Given the description of an element on the screen output the (x, y) to click on. 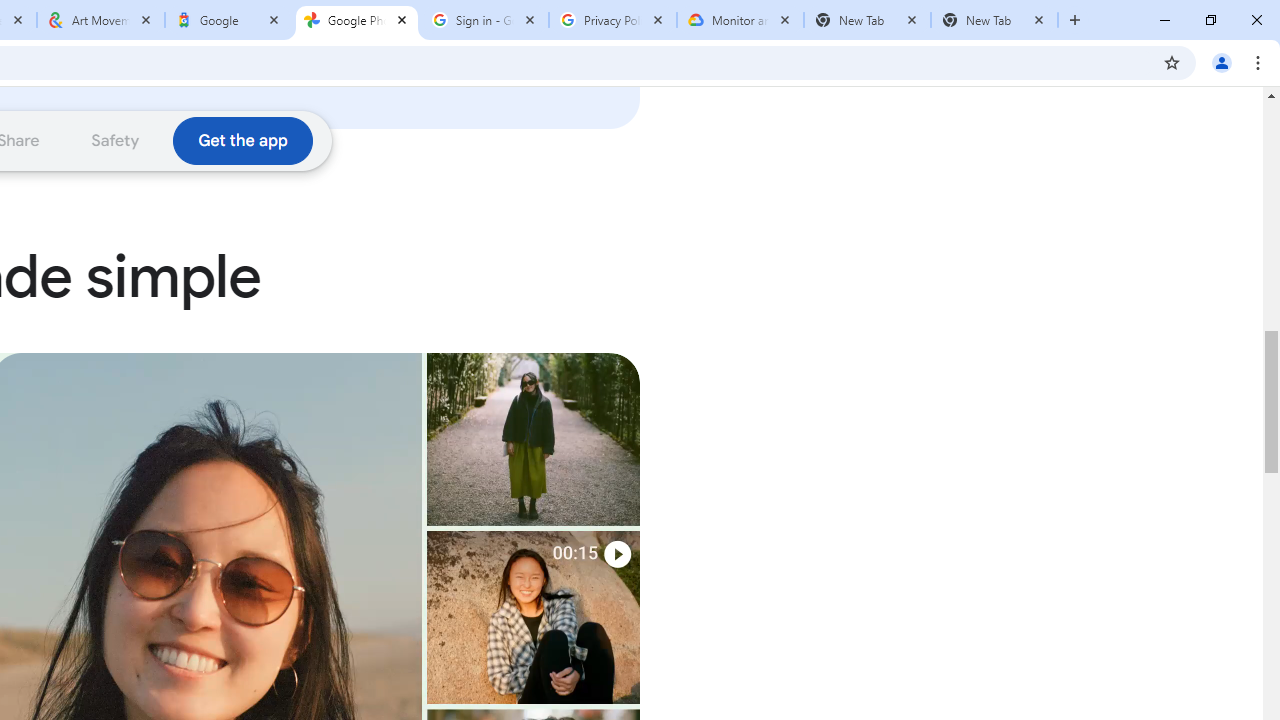
New Tab (866, 20)
Sign in - Google Accounts (485, 20)
Download the Google Photos app (242, 140)
New Tab (994, 20)
Google (229, 20)
